Given the description of an element on the screen output the (x, y) to click on. 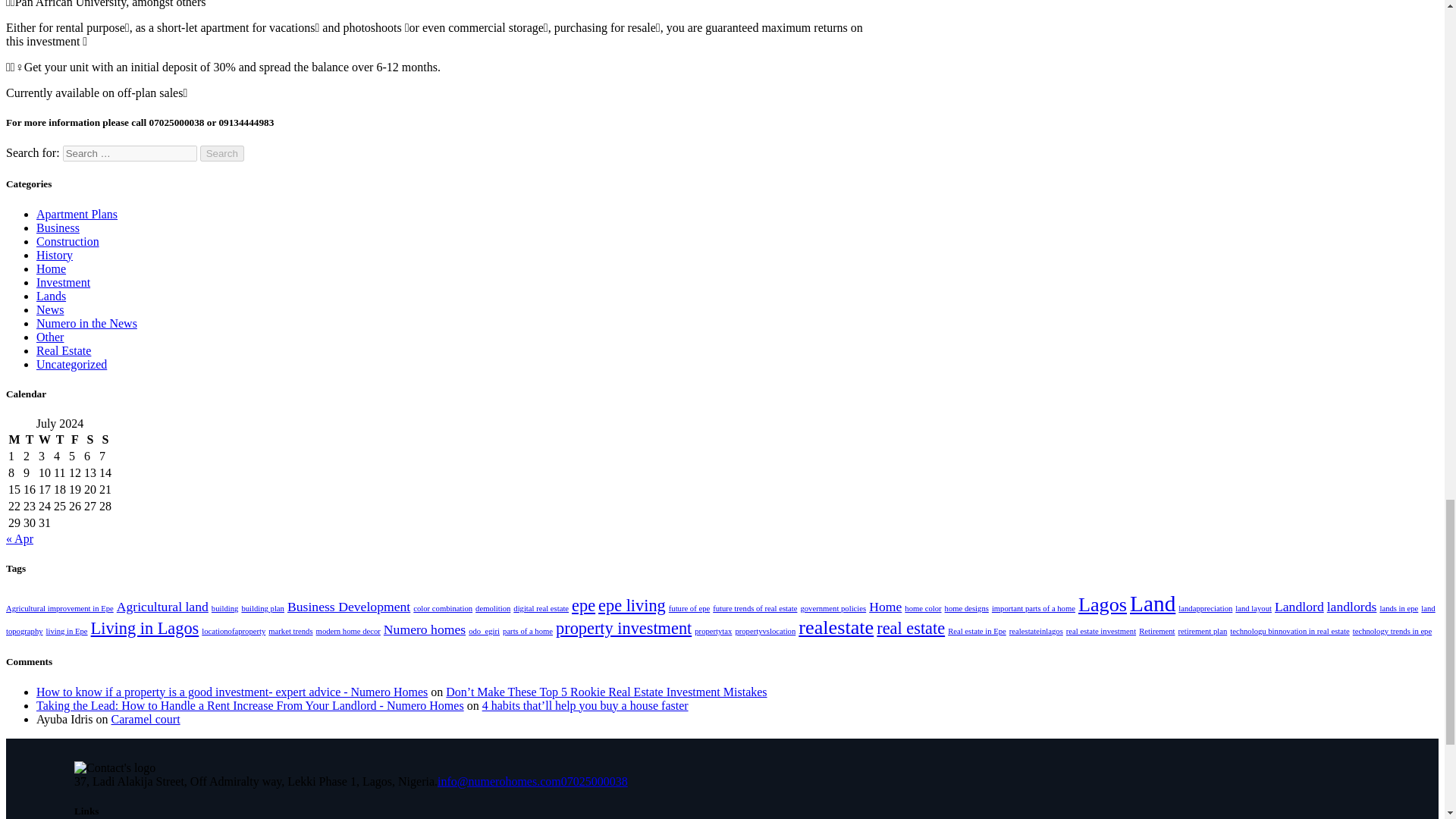
Search (222, 153)
Friday (74, 439)
Monday (14, 439)
Saturday (89, 439)
Tuesday (29, 439)
Search (222, 153)
Thursday (59, 439)
Sunday (105, 439)
Wednesday (43, 439)
